Given the description of an element on the screen output the (x, y) to click on. 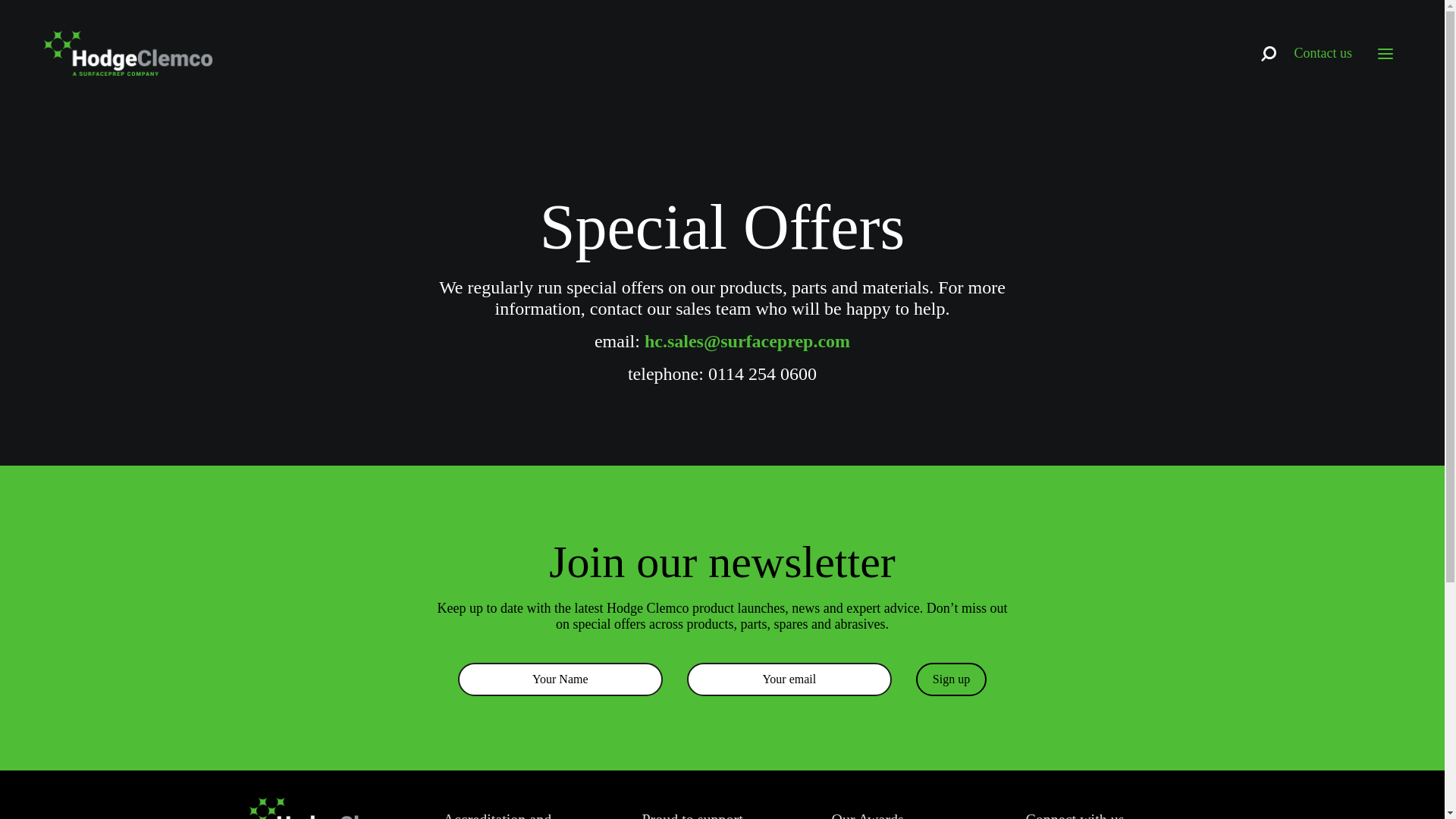
Search (778, 427)
Sign up (951, 679)
Contact us (1323, 53)
Sign up (951, 679)
HodgeClemco (131, 38)
